Given the description of an element on the screen output the (x, y) to click on. 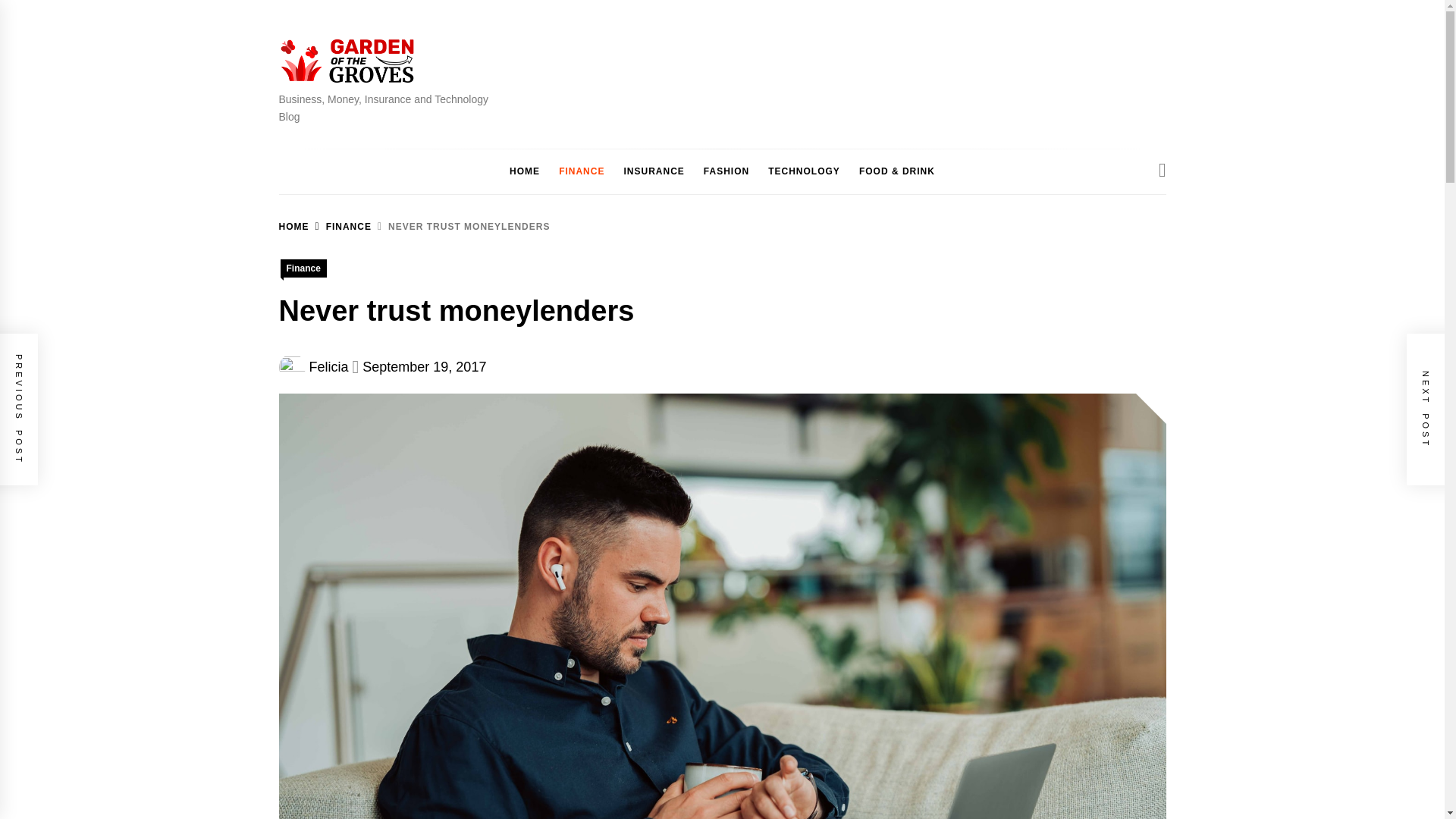
Gardenofthegroves (397, 105)
Felicia (328, 366)
INSURANCE (653, 171)
Finance (303, 268)
FINANCE (581, 171)
FINANCE (339, 226)
TECHNOLOGY (803, 171)
NEVER TRUST MONEYLENDERS (460, 226)
HOME (524, 171)
HOME (293, 226)
September 19, 2017 (424, 366)
FASHION (726, 171)
